Given the description of an element on the screen output the (x, y) to click on. 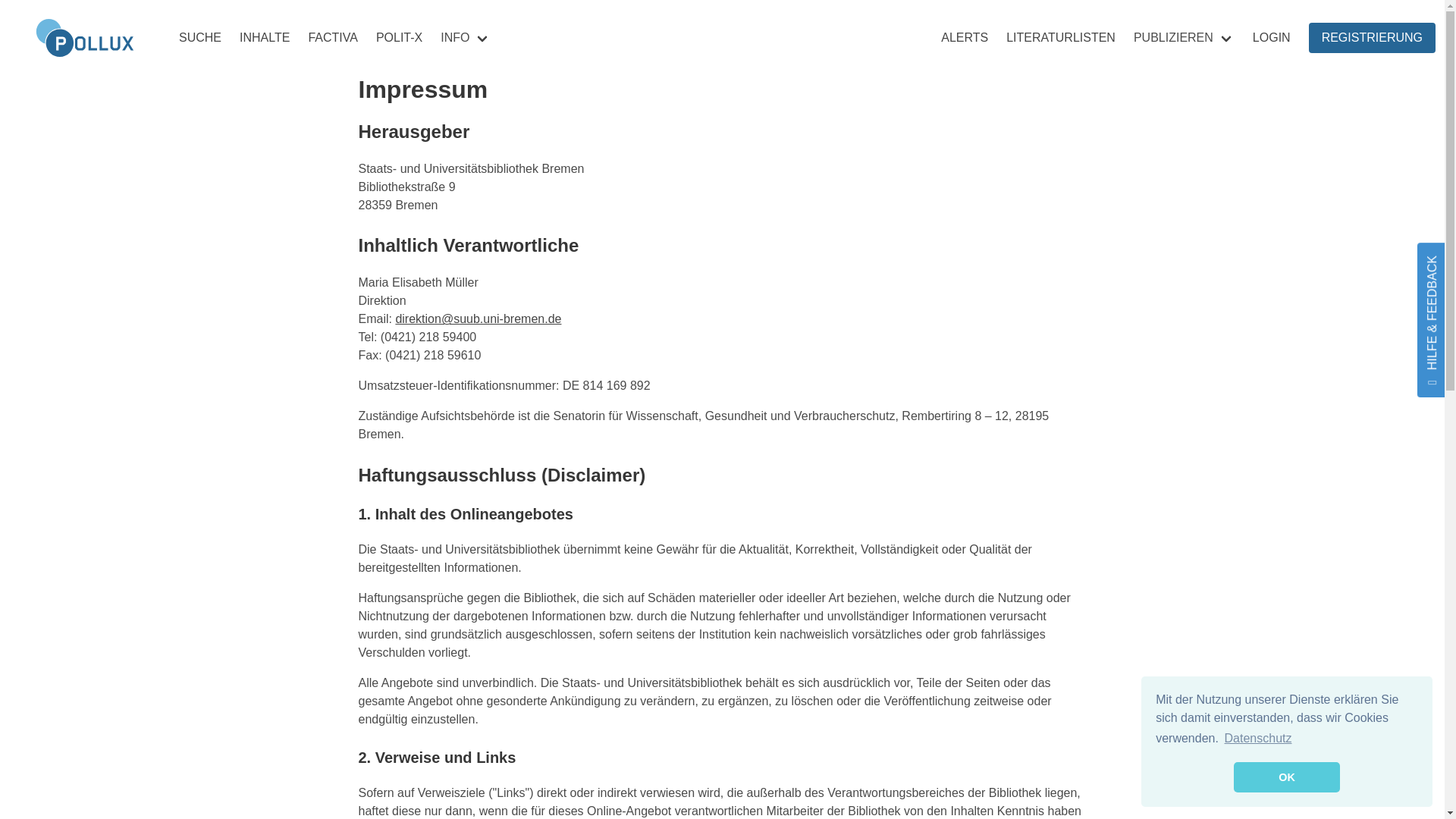
Datenschutz (1257, 738)
POLIT-X (398, 37)
SUCHE (200, 37)
Zur Pollux Startseite (85, 38)
FACTIVA (332, 37)
PUBLIZIEREN (1183, 38)
ALERTS (964, 37)
REGISTRIERUNG (1371, 37)
LOGIN (1271, 37)
OK (1286, 777)
LITERATURLISTEN (1060, 37)
INFO (464, 38)
INHALTE (264, 37)
